Given the description of an element on the screen output the (x, y) to click on. 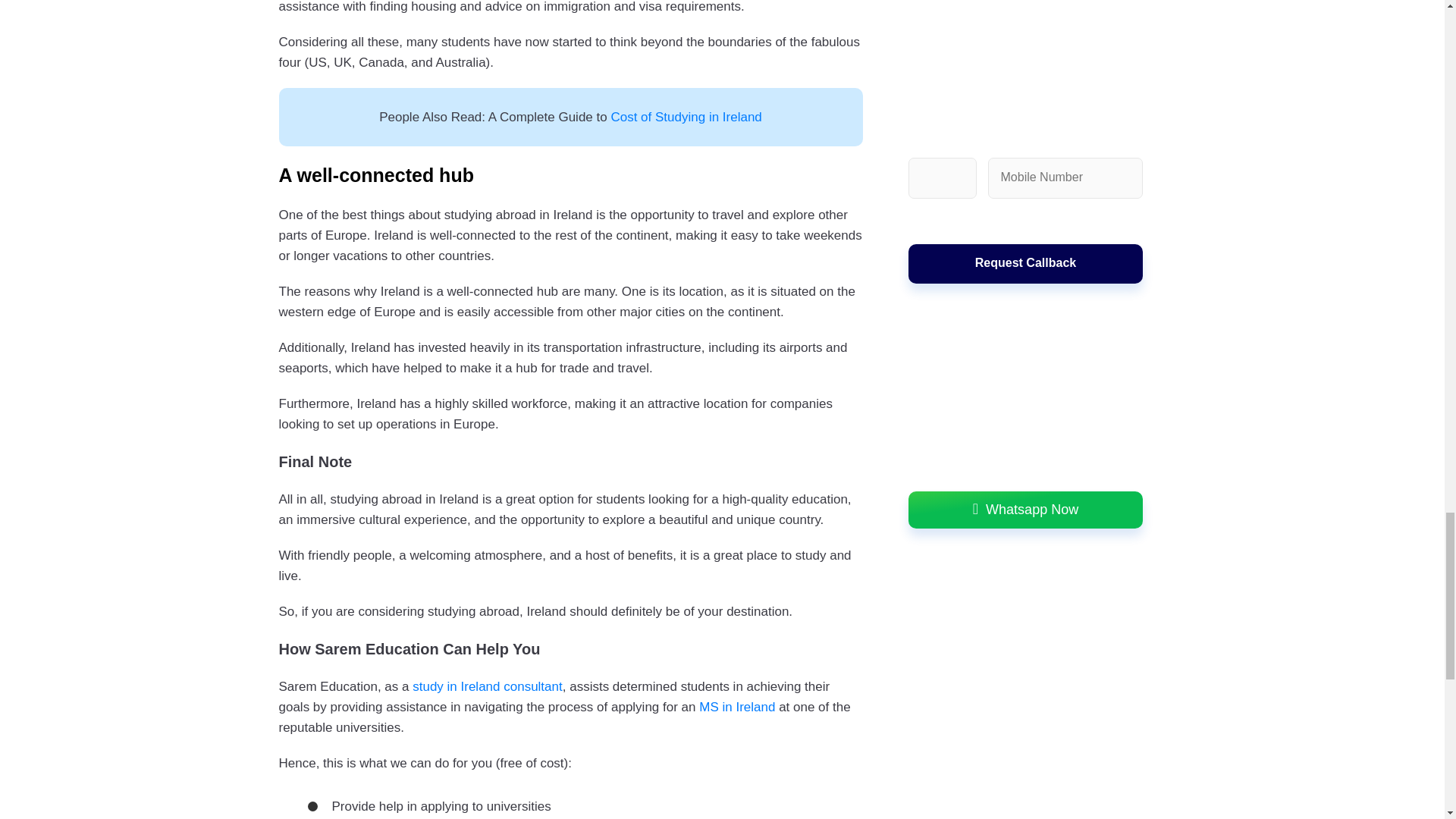
Cost of Studying in Ireland (685, 116)
MS in Ireland (736, 707)
study in Ireland consultant (487, 686)
